Given the description of an element on the screen output the (x, y) to click on. 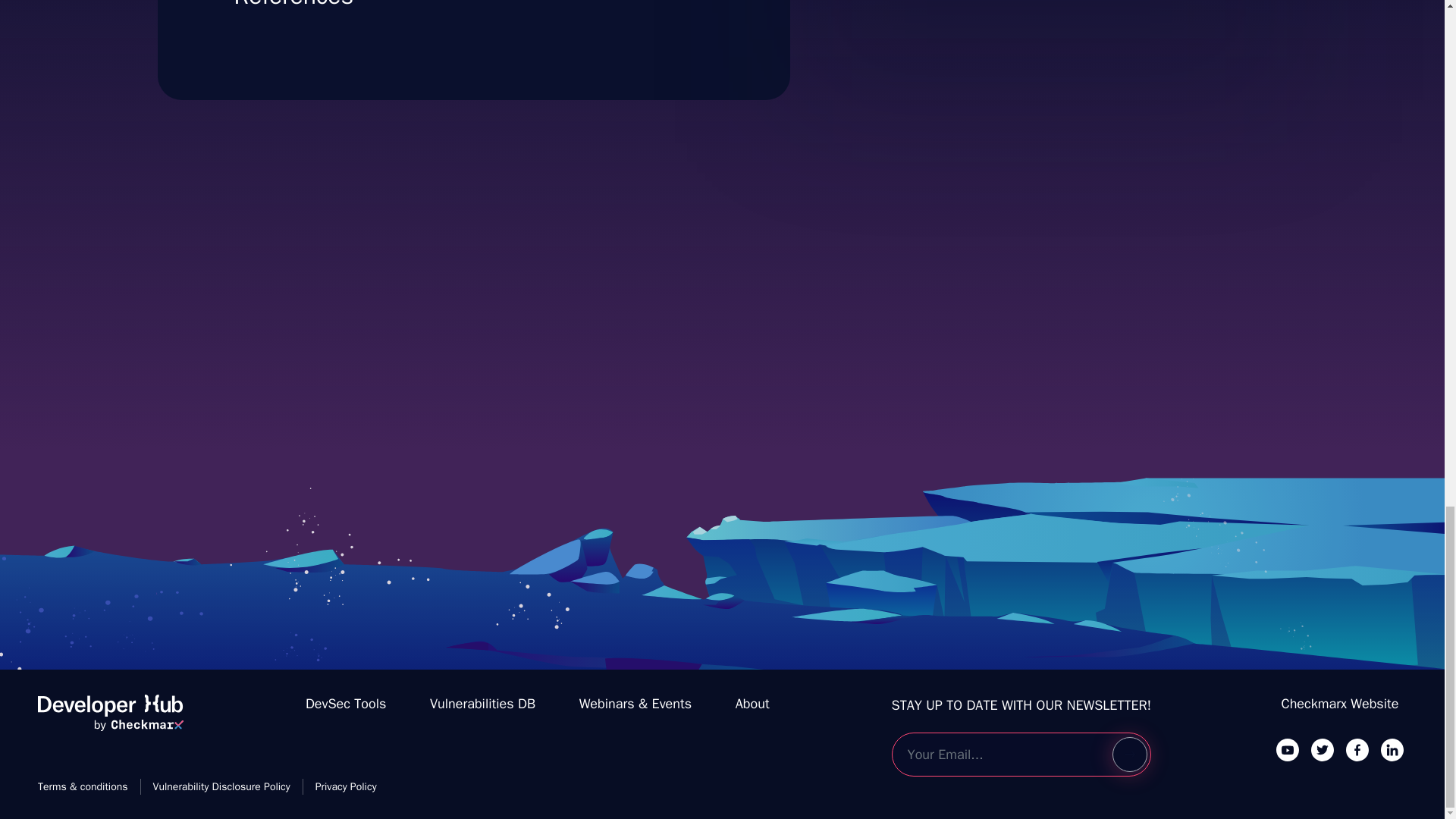
Vulnerability Disclosure Policy (220, 786)
About (752, 703)
Follow us on Youtube (1287, 749)
Goto website home page (110, 719)
Follow us on Twitter (1322, 749)
Vulnerabilities DB (482, 703)
Submit form (1129, 754)
Follow us on Facebook (1356, 749)
Follow us on Linkedin (1391, 749)
Checkmarx Website (1340, 703)
Privacy Policy (346, 786)
DevSec Tools (1037, 12)
